Given the description of an element on the screen output the (x, y) to click on. 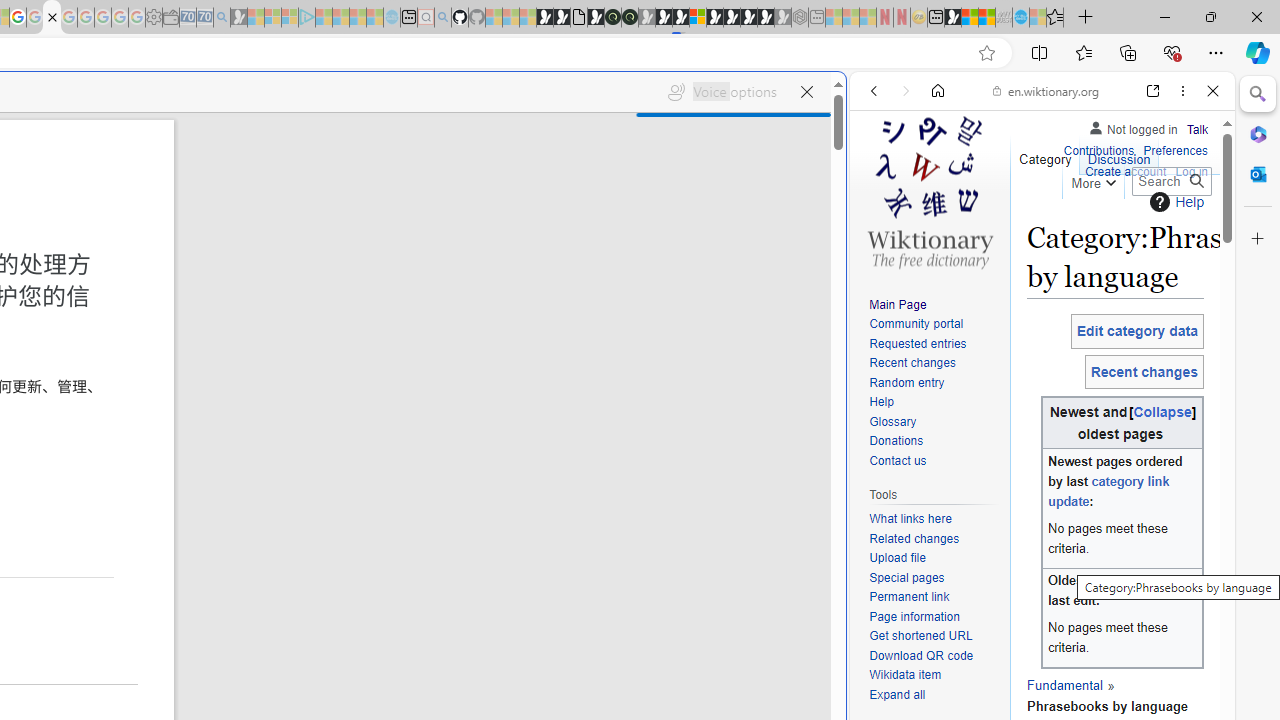
Category (1045, 154)
Wikidata item (934, 676)
Services - Maintenance | Sky Blue Bikes - Sky Blue Bikes (1020, 17)
Page information (914, 616)
Upload file (934, 558)
Create account (1125, 172)
What links here (910, 519)
Future Focus Report 2024 (629, 17)
Glossary (934, 421)
